Given the description of an element on the screen output the (x, y) to click on. 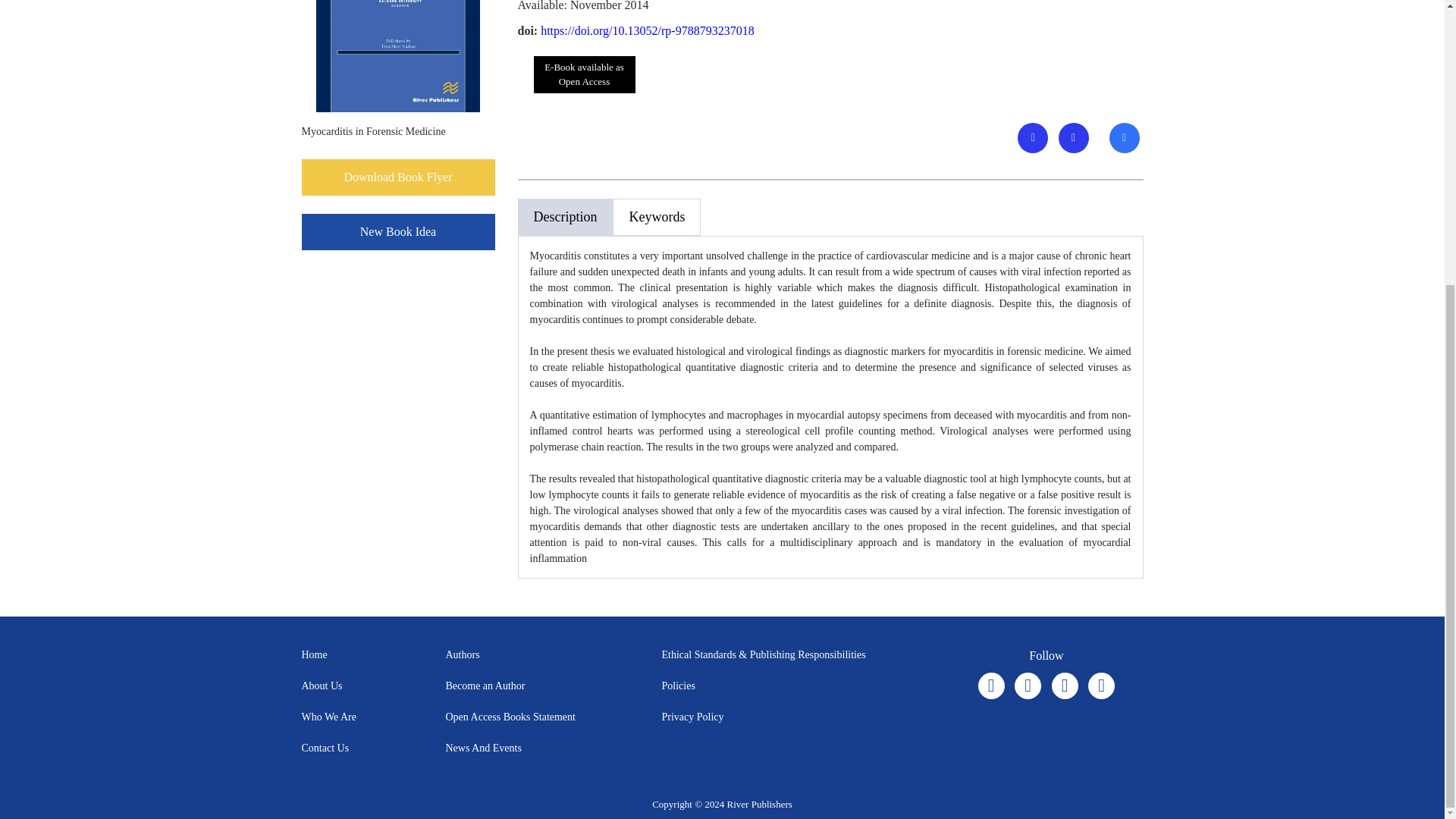
Open Access Books Statement (510, 716)
Description (564, 217)
E-Book available as Open Access (577, 74)
E-Book available as Open Access (584, 74)
Keywords (656, 217)
Authors (462, 654)
Home (314, 654)
About Us (321, 685)
Download Book Flyer (398, 176)
Contact Us (325, 747)
